Given the description of an element on the screen output the (x, y) to click on. 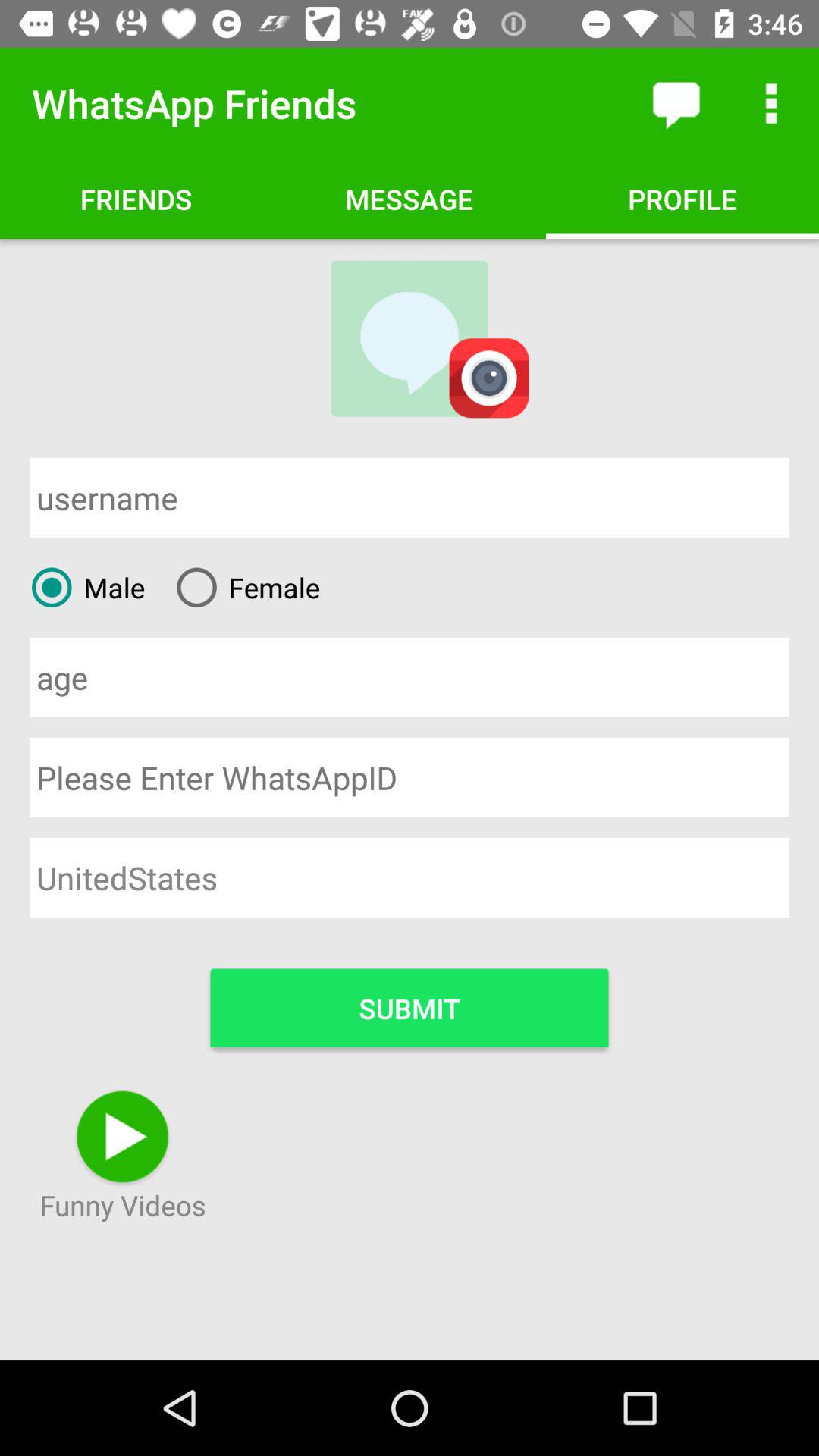
direct message (675, 103)
